Given the description of an element on the screen output the (x, y) to click on. 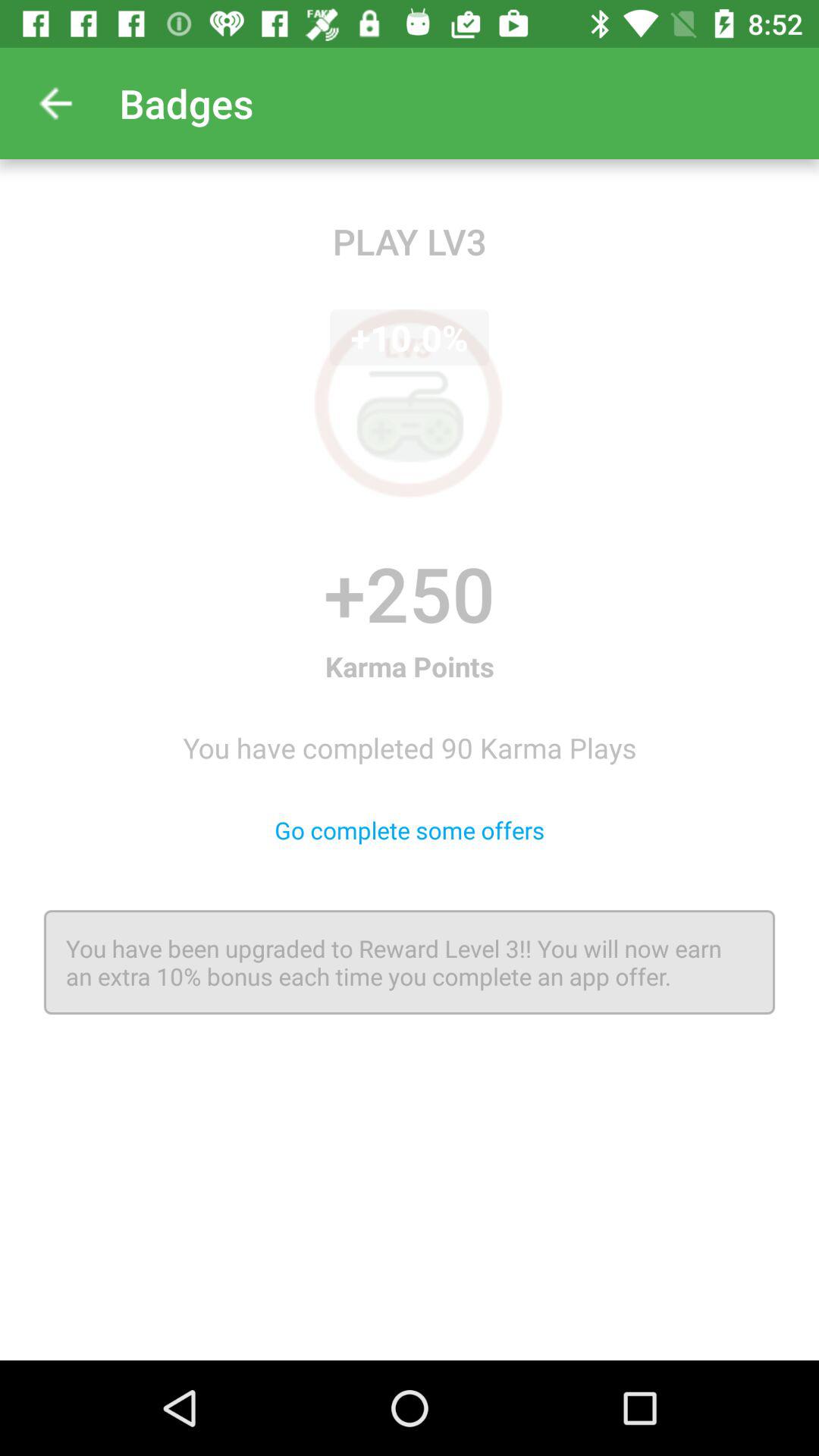
tap item above the you have been (409, 830)
